Given the description of an element on the screen output the (x, y) to click on. 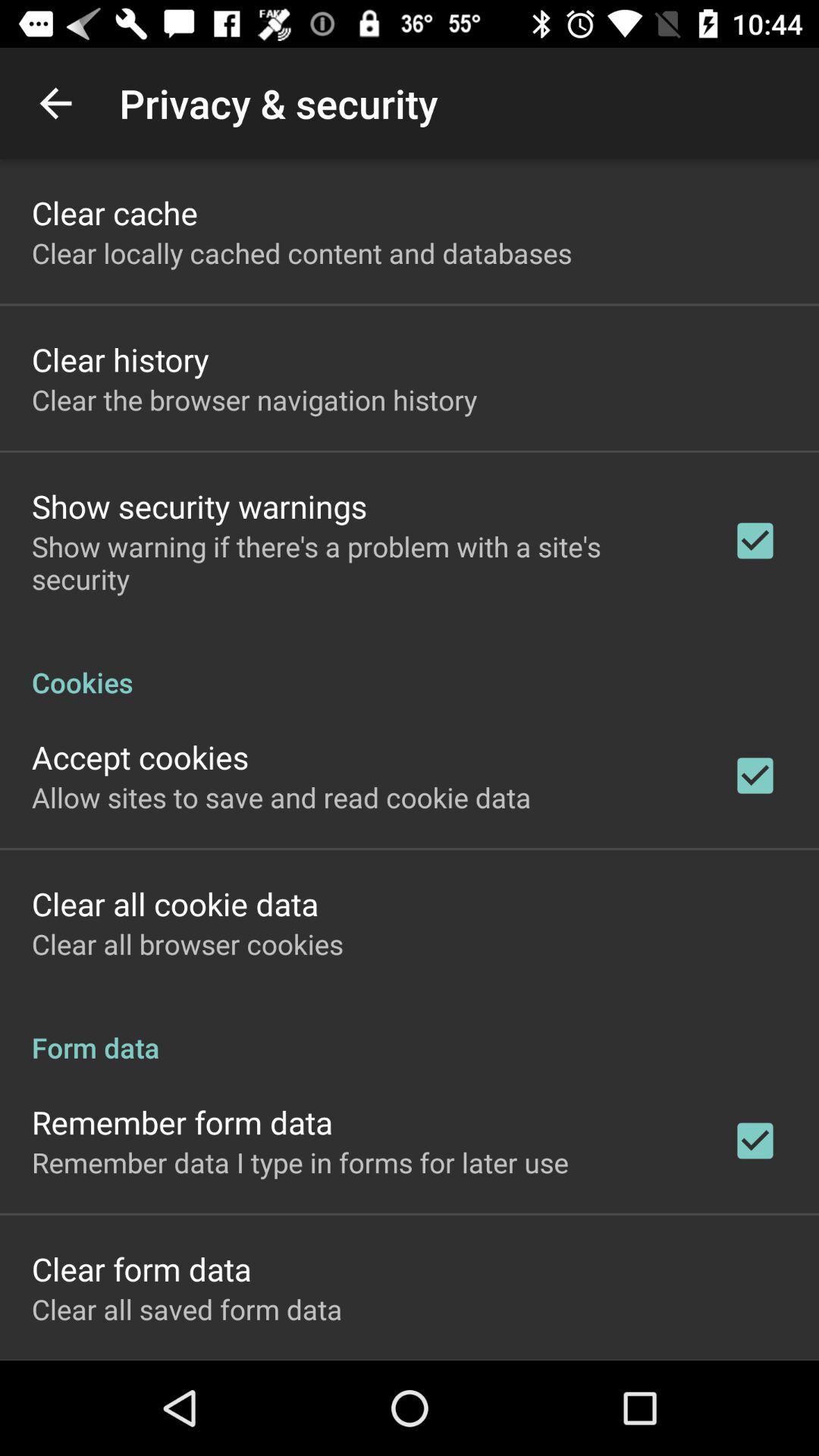
select app above cookies item (361, 562)
